Given the description of an element on the screen output the (x, y) to click on. 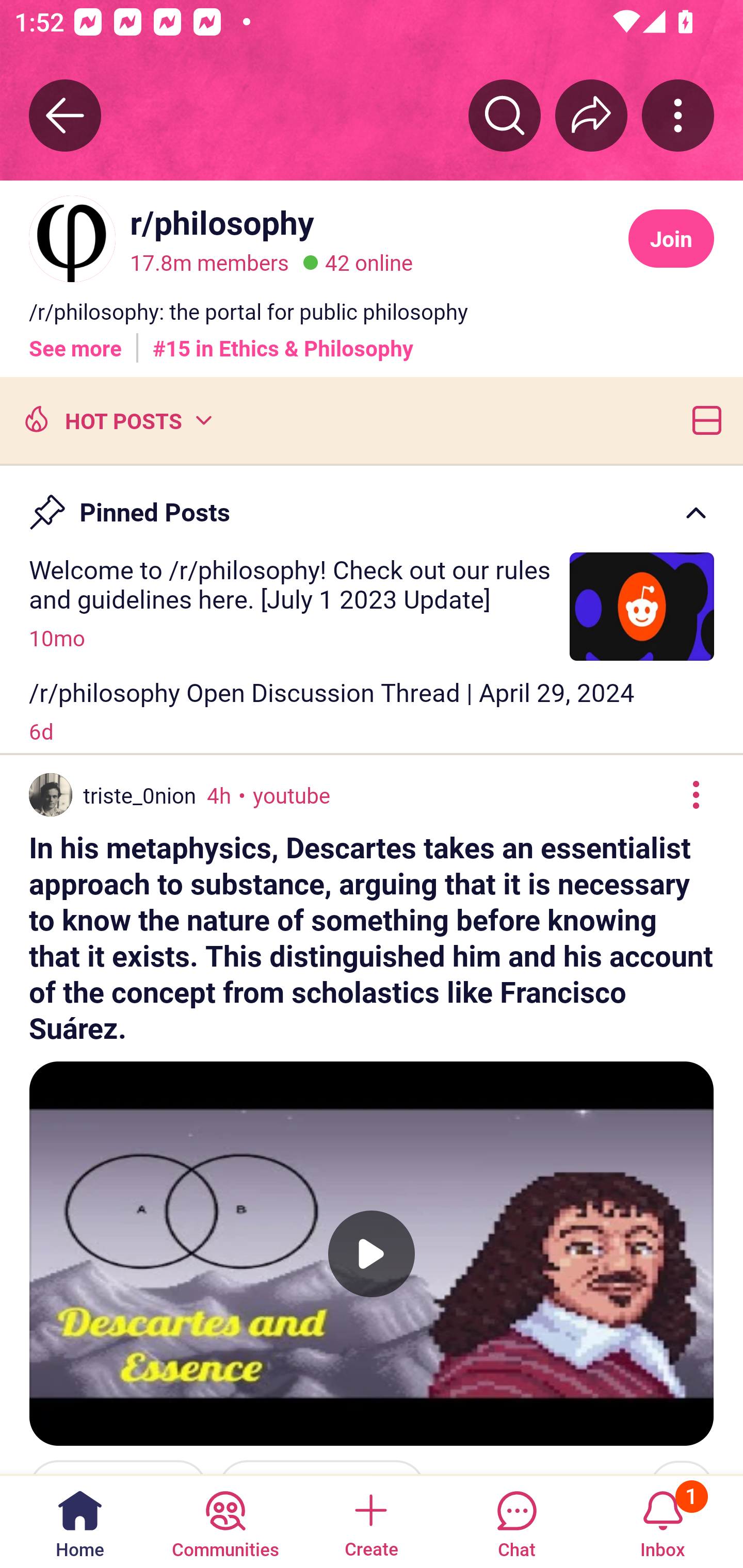
Back (64, 115)
Search r/﻿philosophy (504, 115)
Share r/﻿philosophy (591, 115)
More community actions (677, 115)
Hot posts HOT POSTS (116, 419)
Card (703, 419)
Pin Pinned Posts Caret (371, 503)
Home (80, 1520)
Communities (225, 1520)
Create a post Create (370, 1520)
Chat (516, 1520)
Inbox, has 1 notification 1 Inbox (662, 1520)
